Given the description of an element on the screen output the (x, y) to click on. 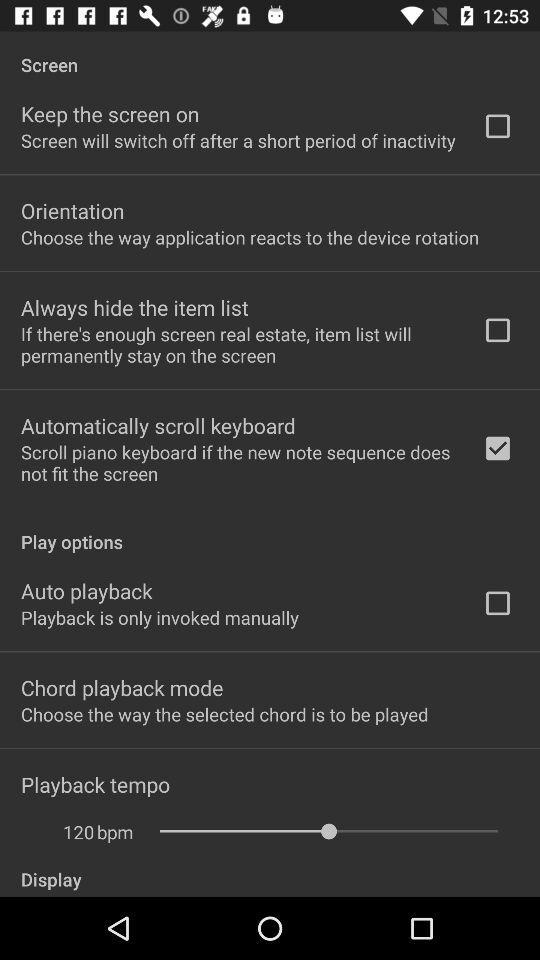
select the item below the choose the way item (134, 307)
